Given the description of an element on the screen output the (x, y) to click on. 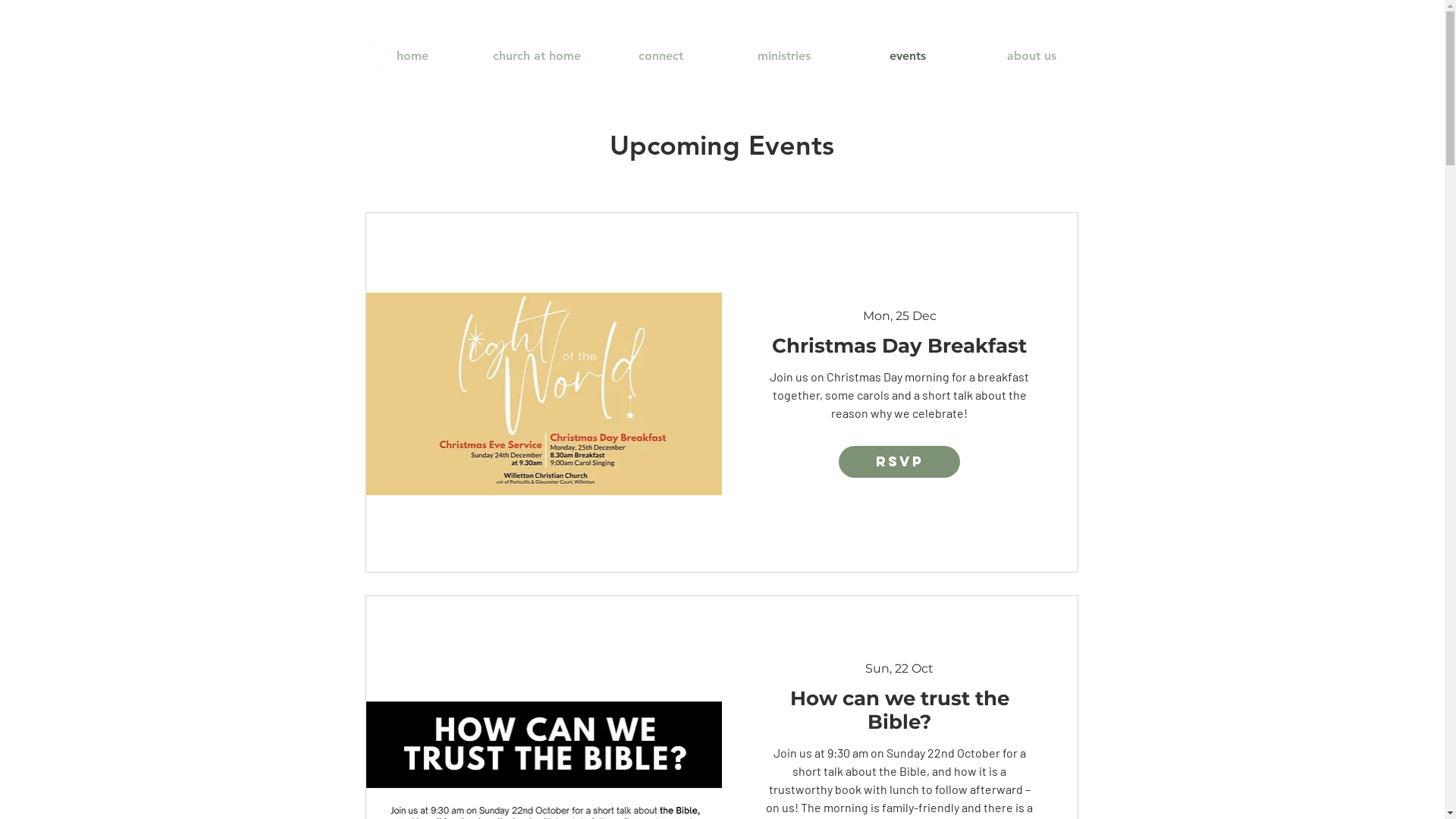
white leaf.png Element type: hover (374, 55)
How can we trust the Bible? Element type: text (899, 710)
home Element type: text (412, 55)
Christmas Day Breakfast Element type: text (899, 345)
RSVP Element type: text (899, 461)
church at home Element type: text (536, 55)
ministries Element type: text (783, 55)
events Element type: text (907, 55)
connect Element type: text (660, 55)
about us Element type: text (1030, 55)
